Given the description of an element on the screen output the (x, y) to click on. 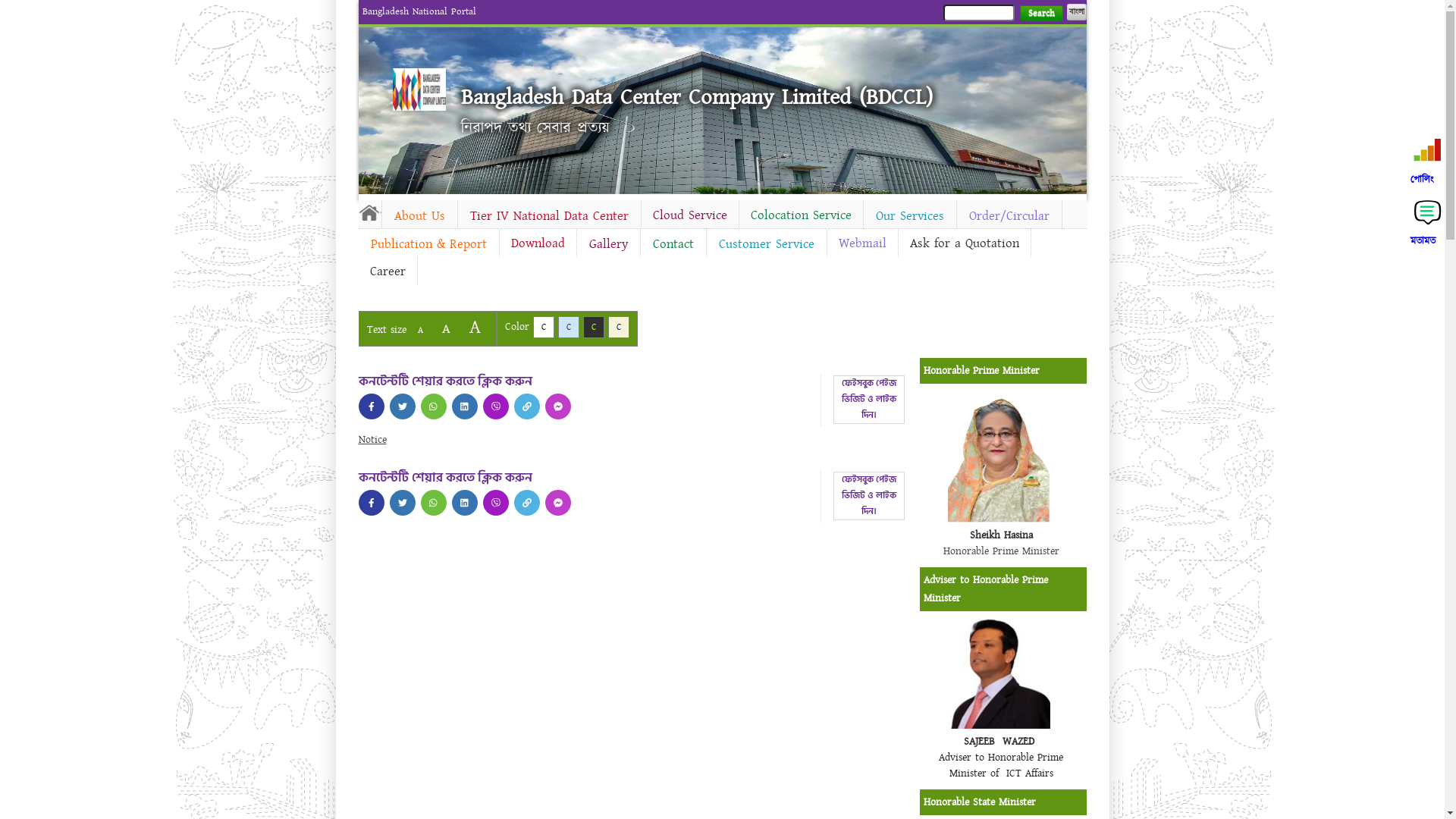
C Element type: text (592, 327)
Ask for a Quotation Element type: text (963, 243)
A Element type: text (419, 330)
Download Element type: text (536, 243)
Home Element type: hover (368, 211)
Colocation Service Element type: text (800, 215)
C Element type: text (618, 327)
Career Element type: text (386, 271)
About Us Element type: text (419, 216)
A Element type: text (474, 327)
Our Services Element type: text (908, 216)
Bangladesh National Portal Element type: text (419, 11)
Cloud Service Element type: text (689, 215)
C Element type: text (542, 327)
Order/Circular Element type: text (1009, 216)
Tier IV National Data Center Element type: text (549, 216)
Bangladesh Data Center Company Limited (BDCCL) Element type: text (696, 96)
Contact Element type: text (672, 244)
Gallery Element type: text (607, 244)
Publication & Report Element type: text (427, 244)
A Element type: text (445, 328)
Home Element type: hover (418, 89)
C Element type: text (568, 327)
Webmail Element type: text (861, 243)
Search Element type: text (1040, 13)
Customer Service Element type: text (766, 244)
